Given the description of an element on the screen output the (x, y) to click on. 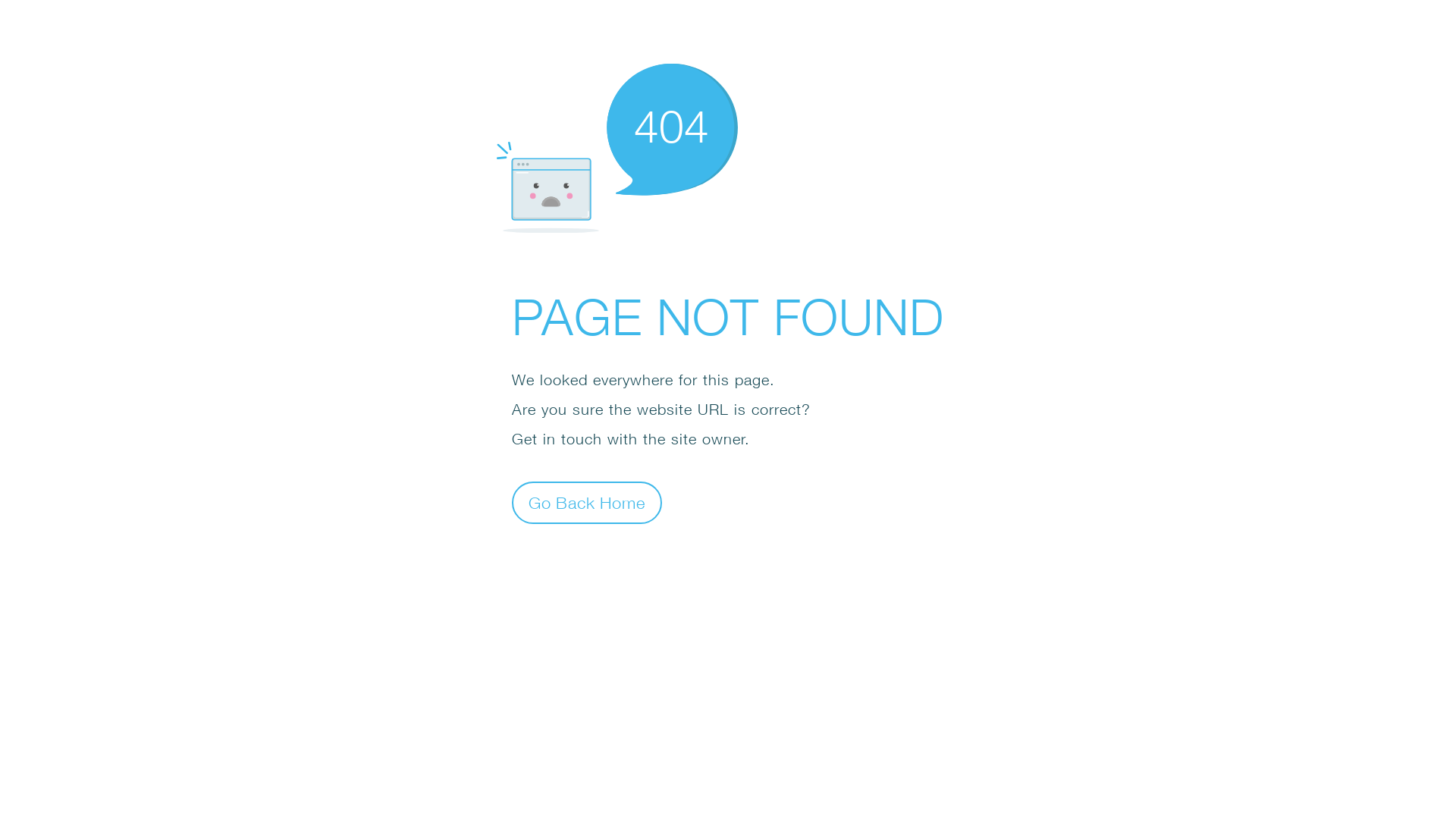
Go Back Home Element type: text (586, 502)
